Given the description of an element on the screen output the (x, y) to click on. 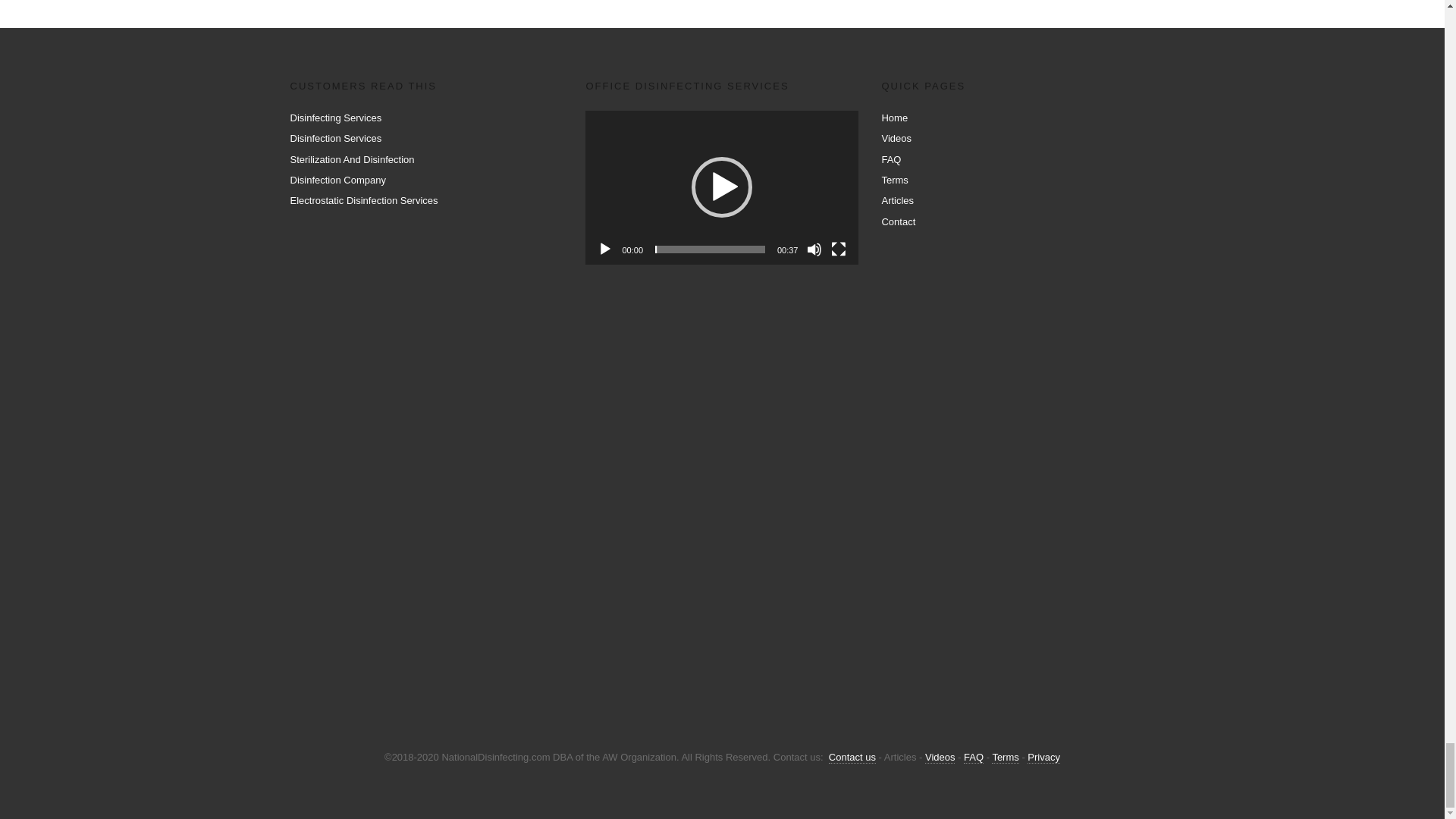
Electrostatic Disinfection Services (363, 200)
Play (604, 249)
Disinfecting Services (335, 117)
Fullscreen (838, 249)
Sterilization And Disinfection (351, 159)
Mute (814, 249)
Disinfection Services (335, 138)
Disinfection Company (337, 179)
